Given the description of an element on the screen output the (x, y) to click on. 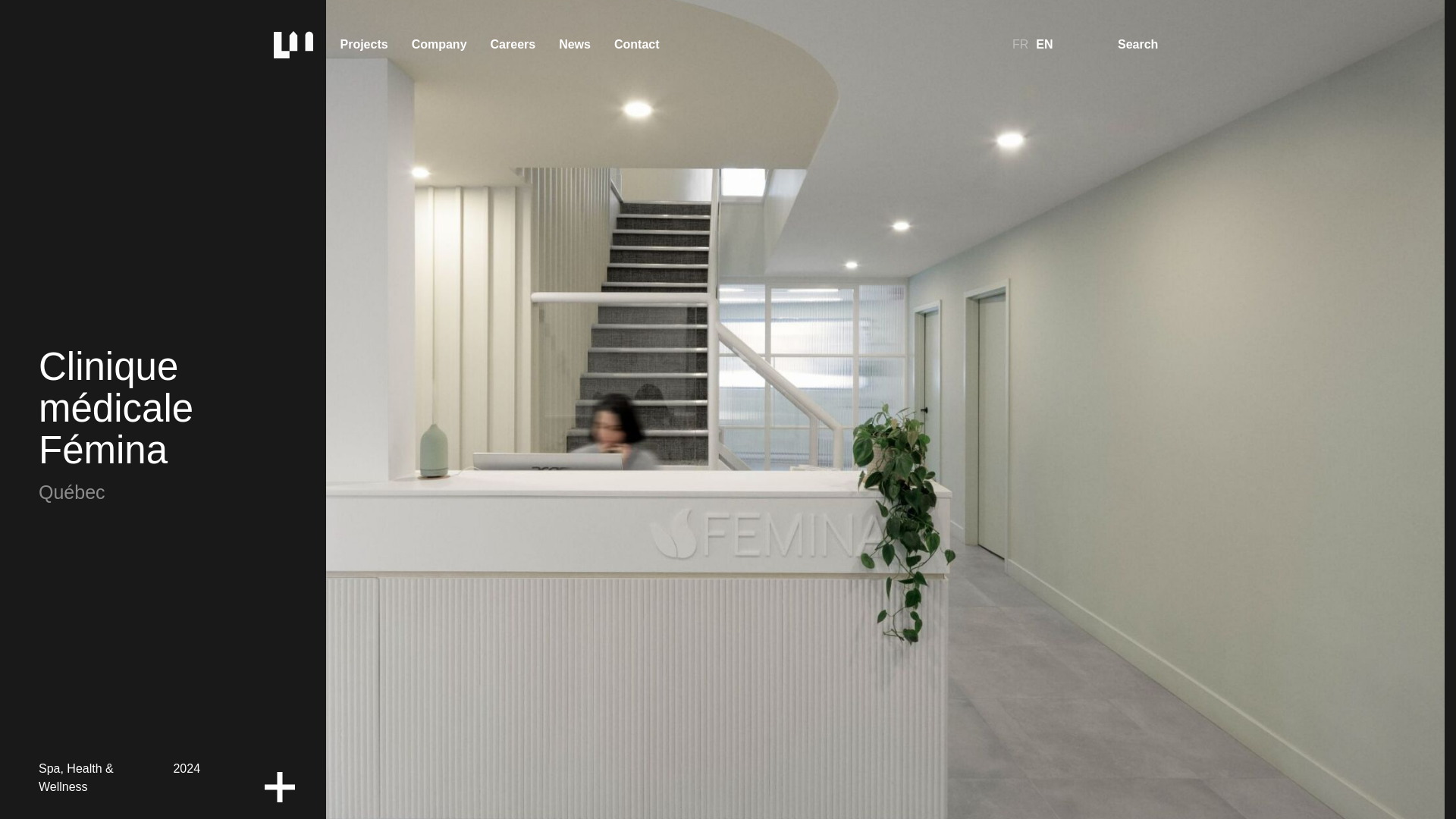
News (574, 44)
Careers (513, 44)
Company (438, 44)
Projects (363, 44)
FR (1016, 44)
Contact (636, 44)
EN (1048, 44)
